Given the description of an element on the screen output the (x, y) to click on. 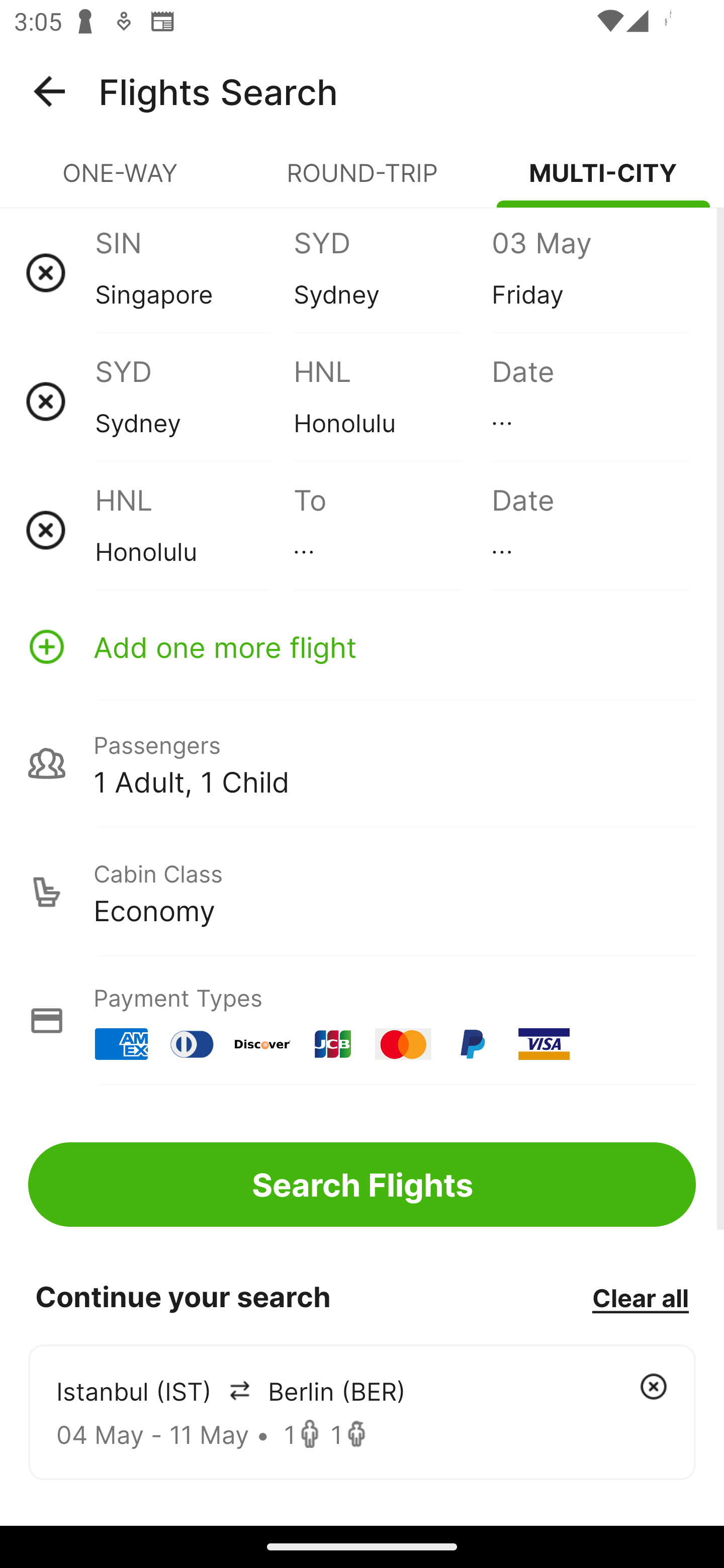
ONE-WAY (120, 180)
ROUND-TRIP (361, 180)
MULTI-CITY (603, 180)
SIN Singapore (193, 272)
SYD Sydney (392, 272)
03 May Friday (590, 272)
SYD Sydney (193, 401)
HNL Honolulu (392, 401)
Date ⋯ (590, 401)
HNL Honolulu (193, 529)
To ⋯ (392, 529)
Date ⋯ (590, 529)
Add one more flight (362, 646)
Passengers 1 Adult, 1 Child (362, 762)
Cabin Class Economy (362, 891)
Payment Types (362, 1020)
Search Flights (361, 1184)
Clear all (640, 1297)
